Given the description of an element on the screen output the (x, y) to click on. 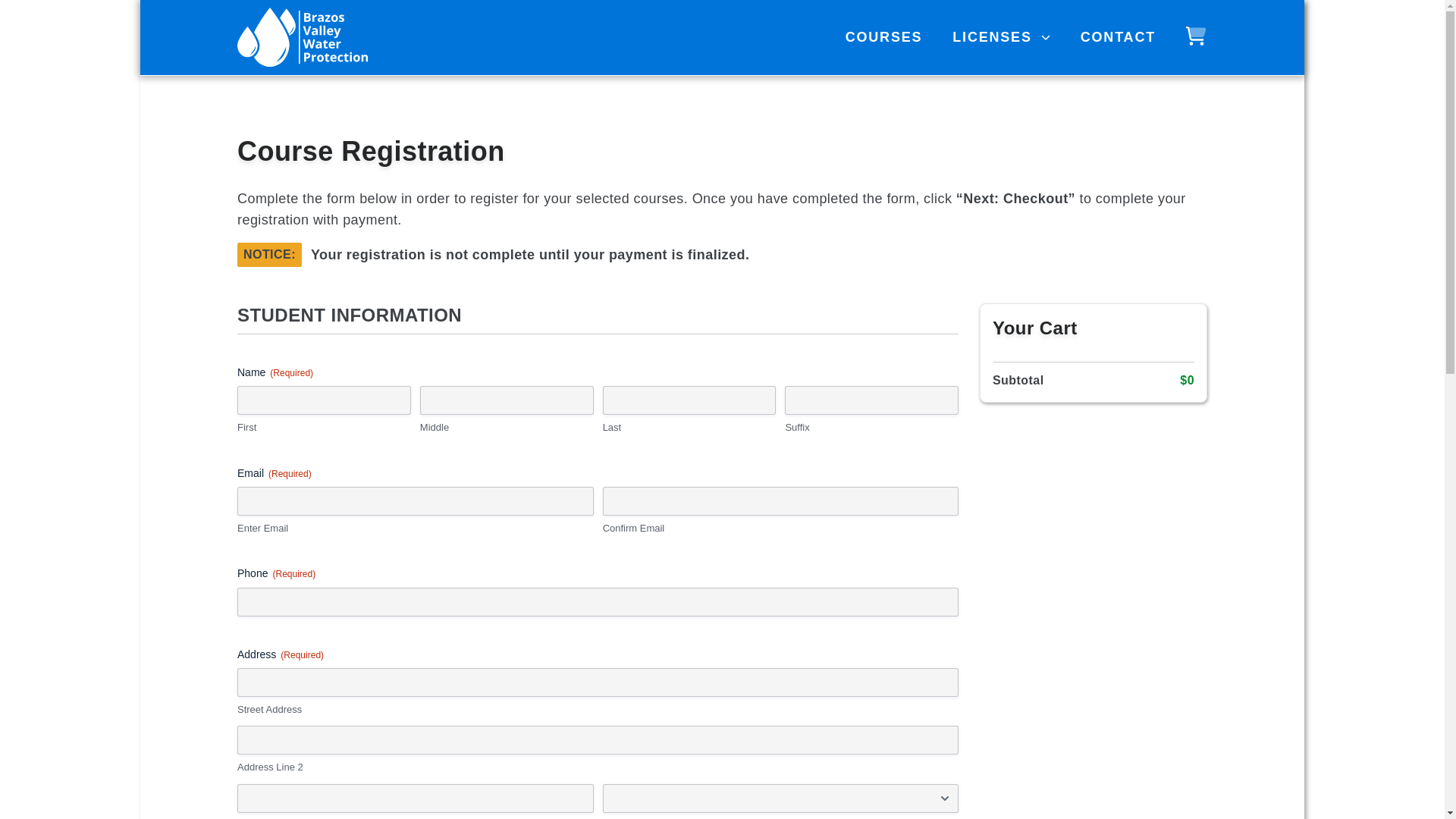
CONTACT (1118, 36)
LICENSES (1000, 36)
COURSES (884, 36)
